Given the description of an element on the screen output the (x, y) to click on. 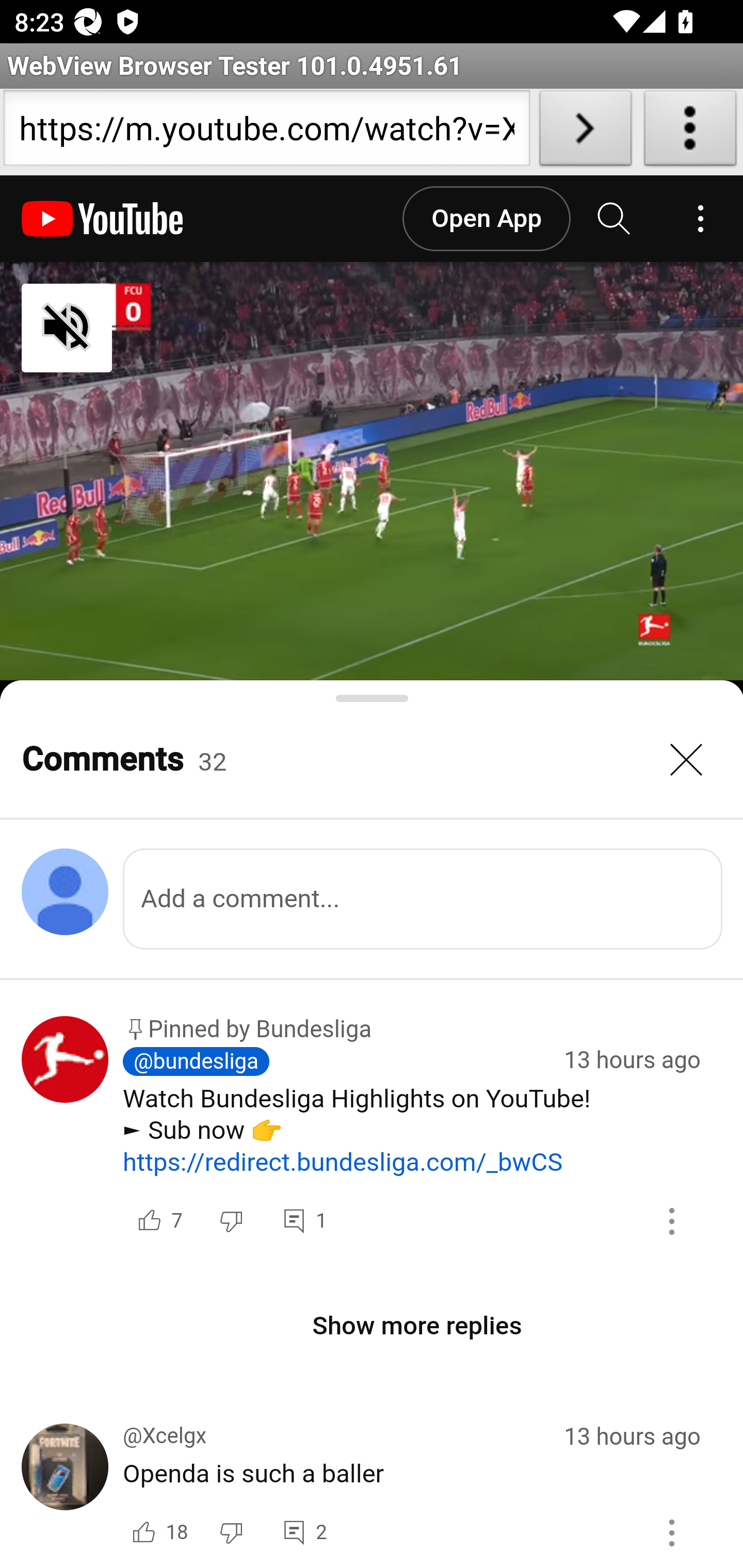
https://m.youtube.com/watch?v=XUR4BnUG4-I (266, 132)
Load URL (585, 132)
About WebView (690, 132)
YouTube (102, 219)
Search YouTube (614, 219)
Account (700, 219)
Open App (485, 218)
YouTube Video Player TAP TO UNMUTE (371, 470)
TAP TO UNMUTE (173, 328)
Close (686, 760)
Add a comment... (423, 898)
UC6UL29enLNe4mqwTfAyeNuw (65, 1136)
Show more replies (417, 1325)
UChjgOtm-JQJGcTmRvQBlqTA (65, 1495)
